Given the description of an element on the screen output the (x, y) to click on. 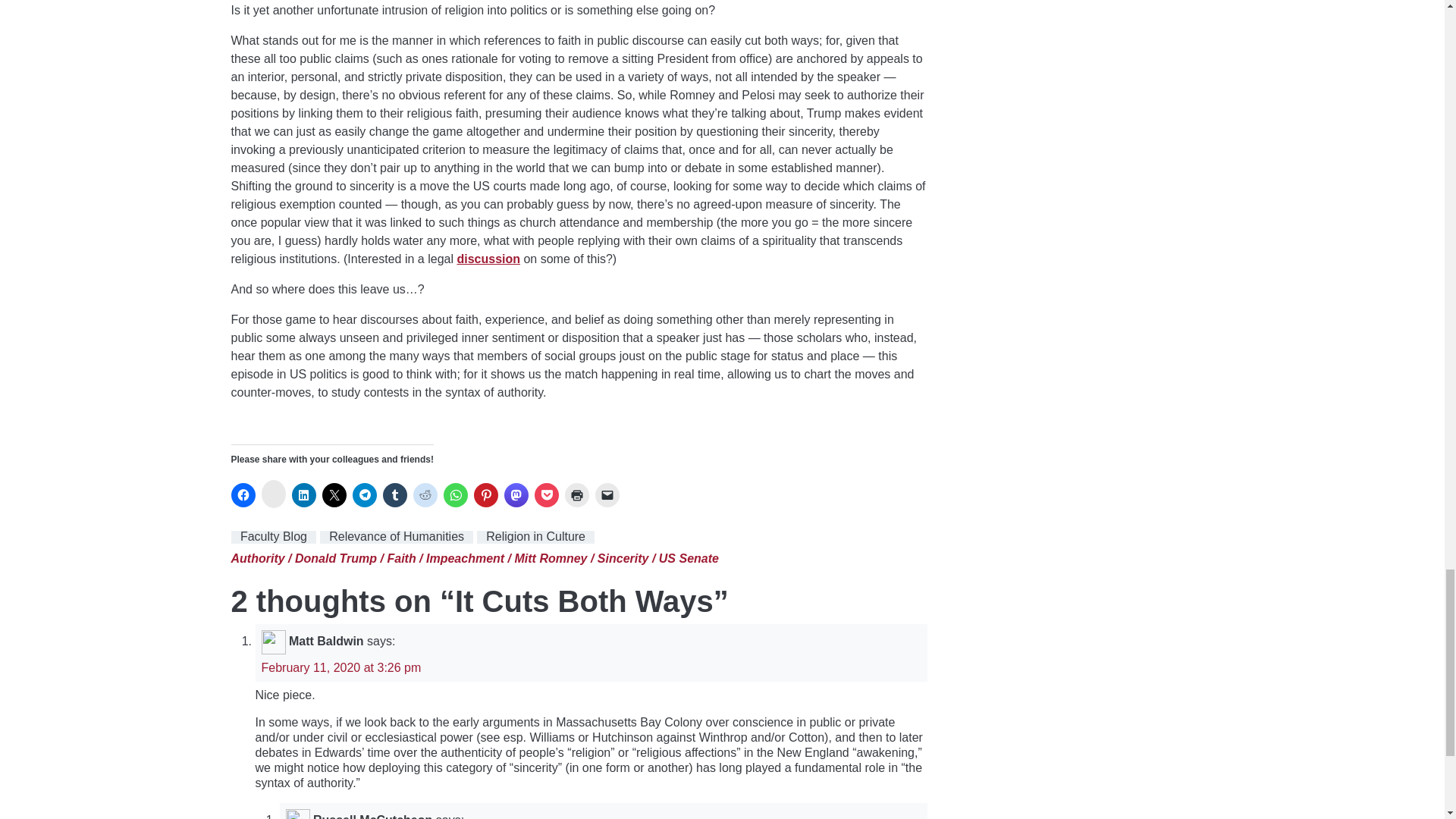
Click to share on Facebook (242, 494)
Click to share on LinkedIn (303, 494)
Click to share on Telegram (363, 494)
discussion (488, 258)
Click to share on X (333, 494)
